Given the description of an element on the screen output the (x, y) to click on. 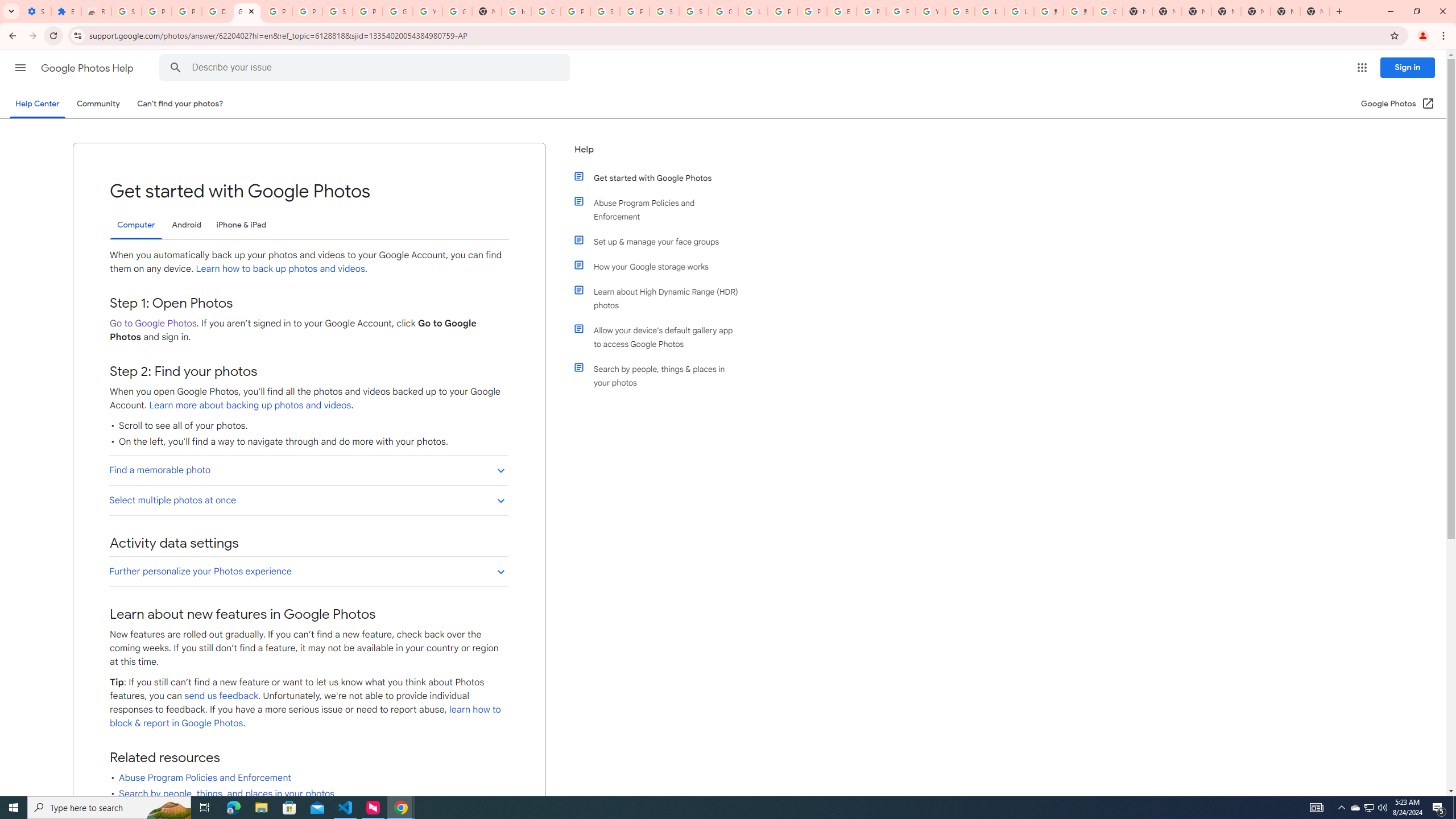
send us feedback (221, 695)
iPhone & iPad (240, 224)
YouTube (930, 11)
Delete photos & videos - Computer - Google Photos Help (216, 11)
New Tab (1226, 11)
